Given the description of an element on the screen output the (x, y) to click on. 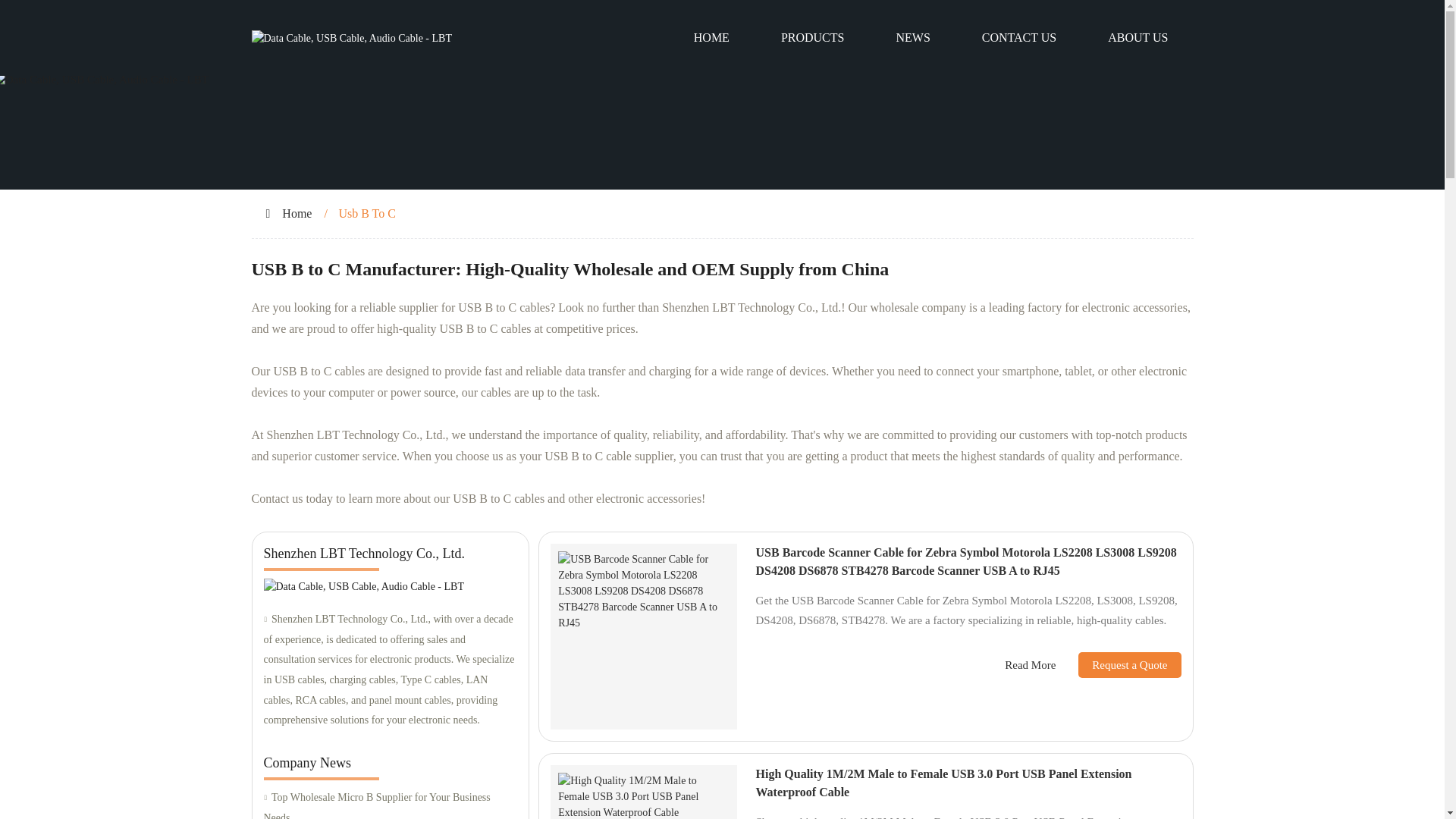
CONTACT US (1018, 38)
PRODUCTS (812, 38)
Top Wholesale Micro B Supplier for Your Business Needs (389, 803)
Read More (1029, 665)
Request a Quote (1117, 664)
Home (296, 213)
